Given the description of an element on the screen output the (x, y) to click on. 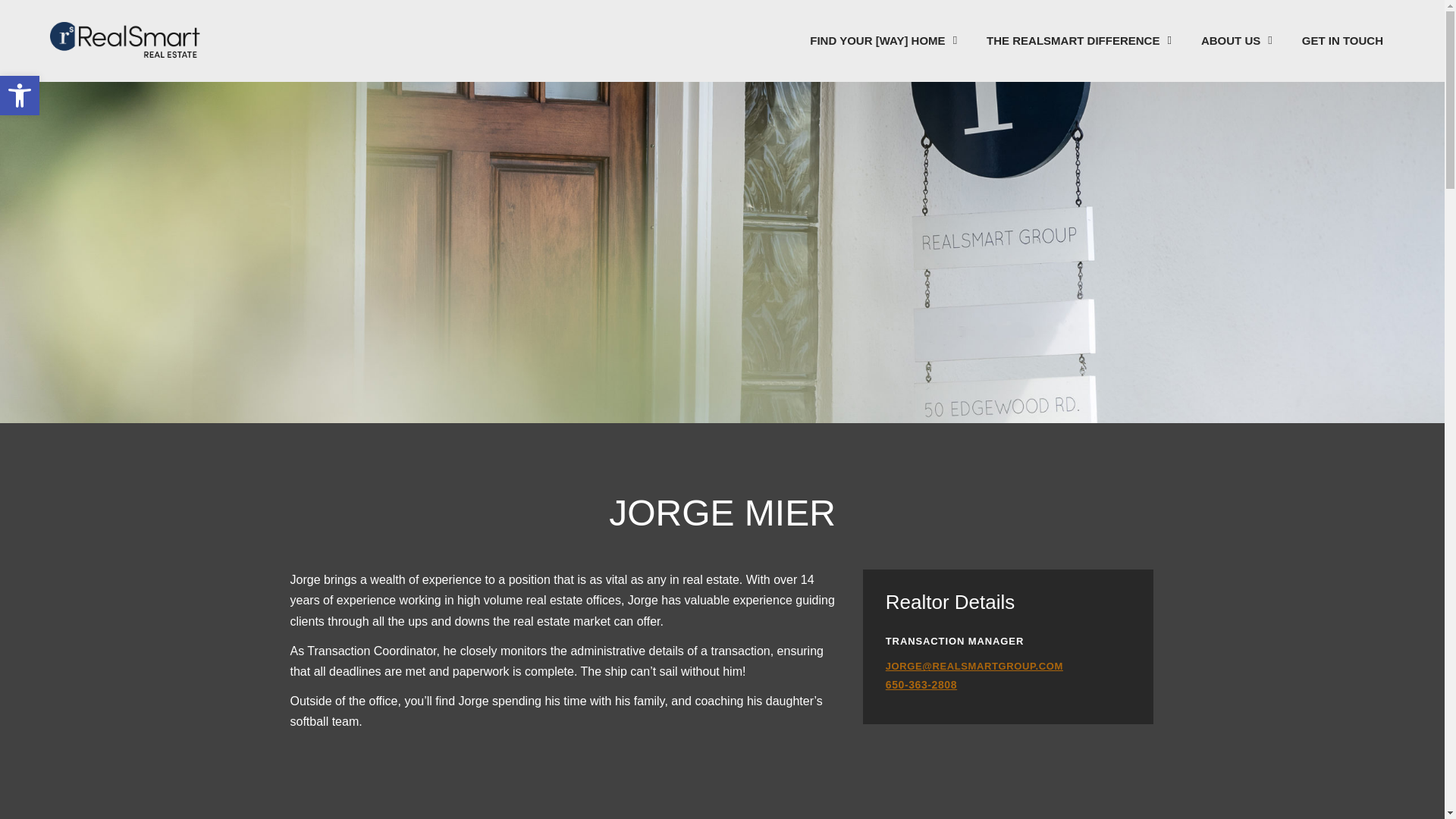
THE REALSMART DIFFERENCE (1078, 40)
Accessibility Tools (19, 95)
Accessibility Tools (19, 95)
ABOUT US (19, 95)
GET IN TOUCH (1236, 40)
650-363-2808 (1342, 40)
